Given the description of an element on the screen output the (x, y) to click on. 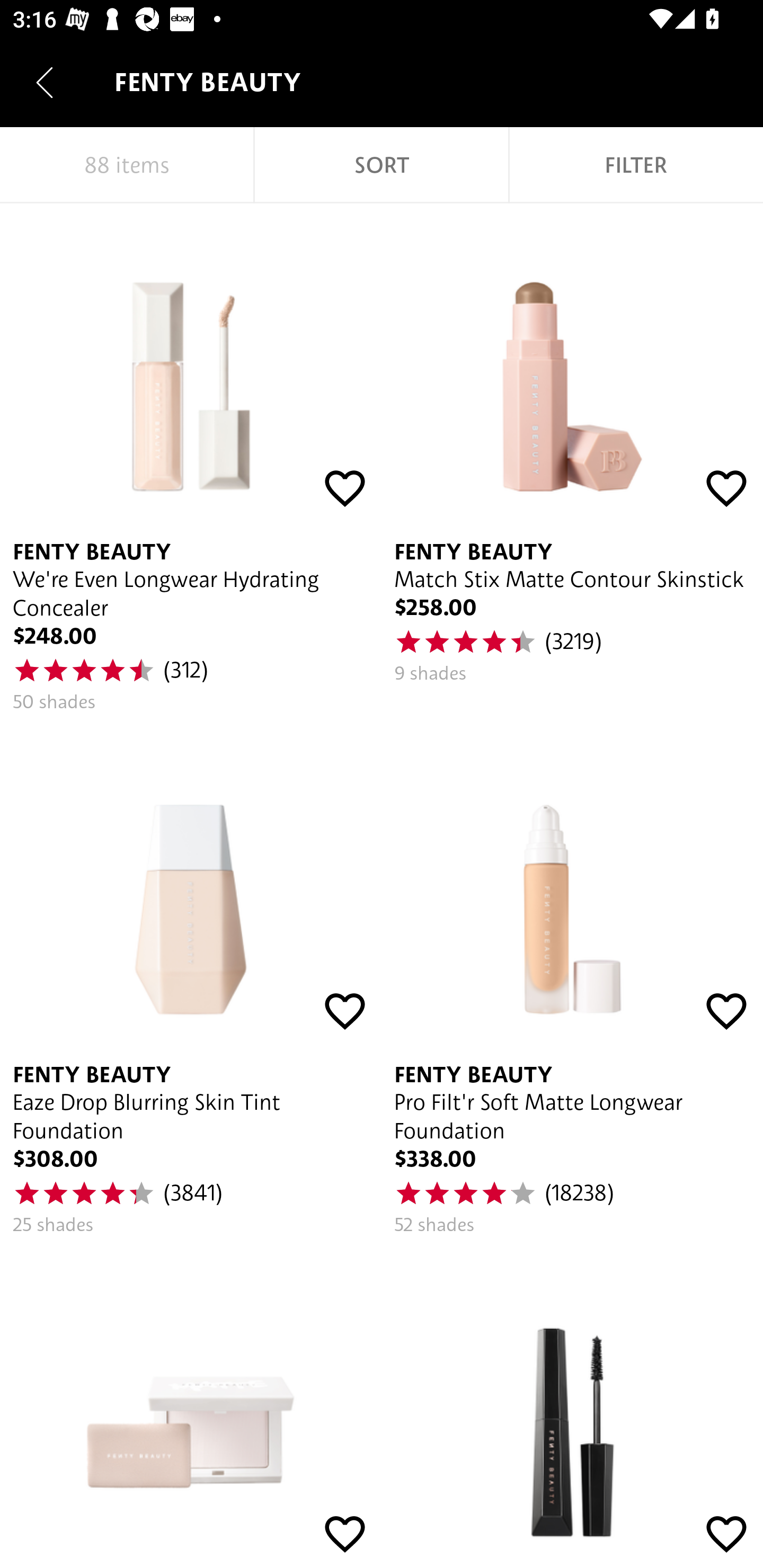
Navigate up (44, 82)
SORT (381, 165)
FILTER (636, 165)
